Given the description of an element on the screen output the (x, y) to click on. 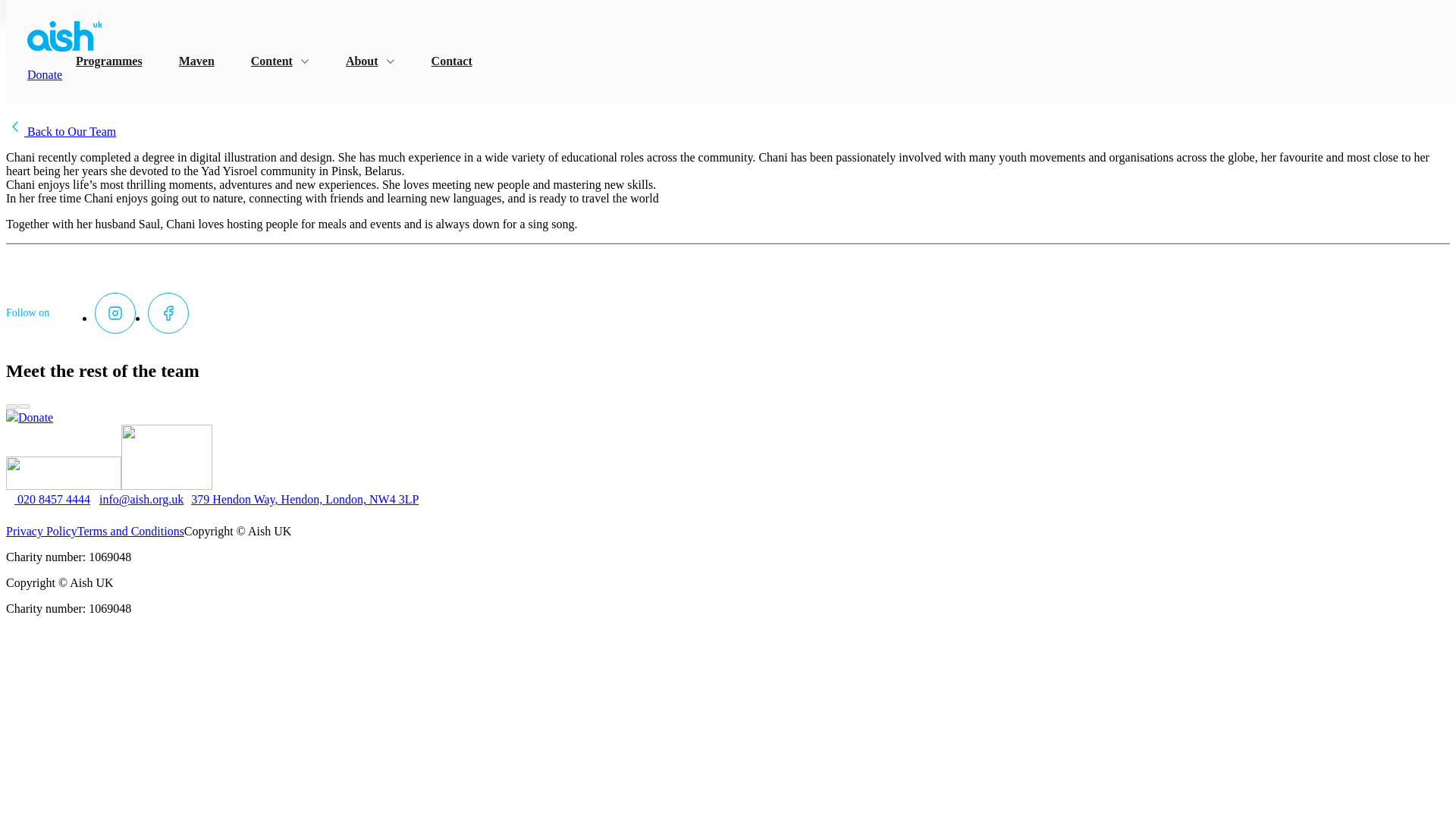
Back to Our Team (60, 131)
Content (279, 60)
Contact (450, 60)
Privacy Policy (41, 530)
Programmes (108, 60)
Maven (196, 60)
379 Hendon Way, Hendon, London, NW4 3LP (301, 499)
About (370, 60)
Donate (44, 74)
Terms and Conditions (130, 530)
020 8457 4444 (47, 499)
Donate (34, 417)
